Given the description of an element on the screen output the (x, y) to click on. 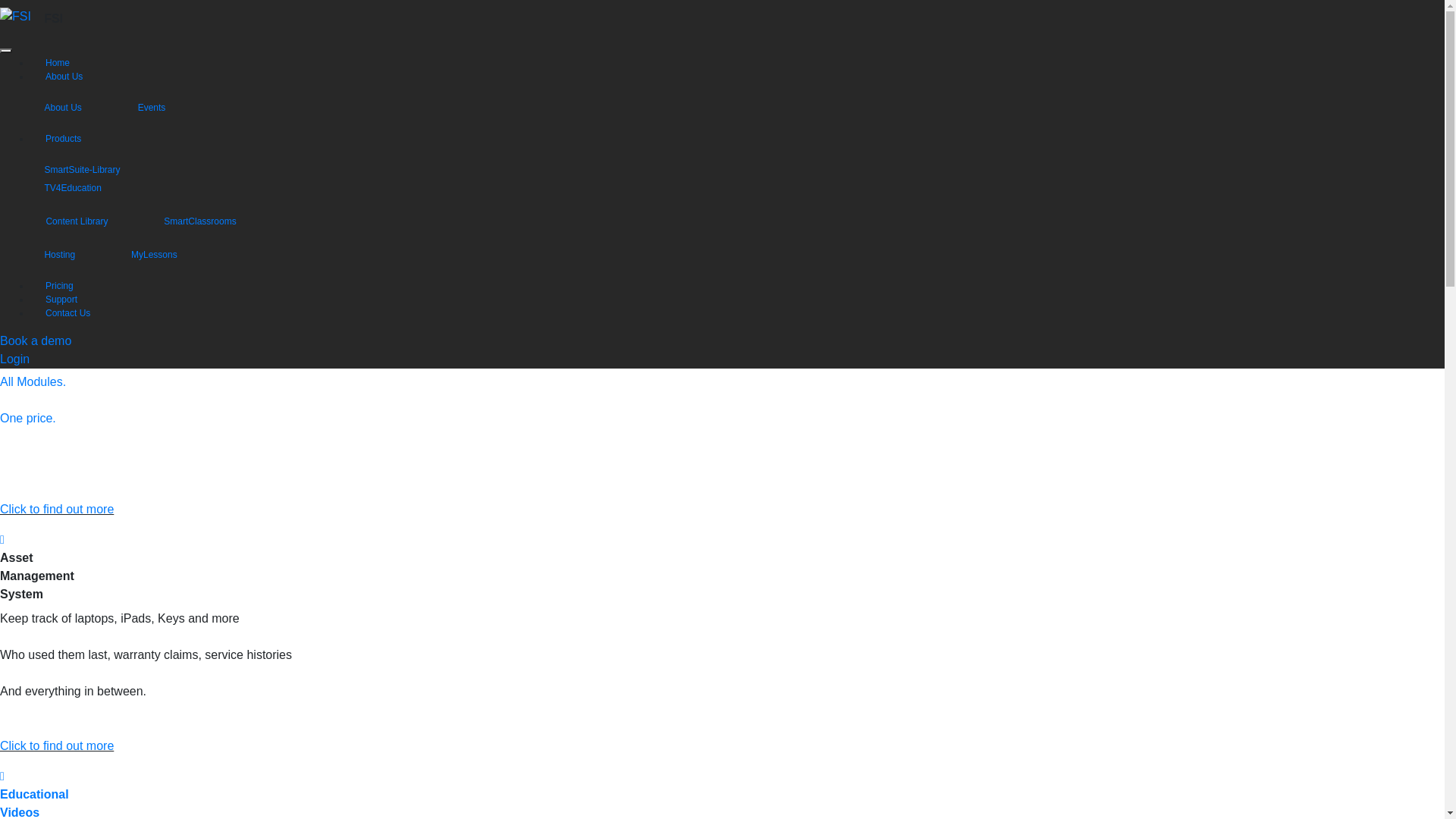
FSI Element type: hover (15, 16)
All Modules. Element type: text (32, 381)
One price. Element type: text (28, 417)
Educational Element type: text (34, 793)
SmartSuite-Library Element type: text (96, 169)
Content Library Element type: text (90, 220)
Pricing Element type: text (59, 285)
Management Element type: text (37, 302)
Library Element type: text (20, 284)
Products Element type: text (63, 138)
About Us Element type: text (76, 107)
Comprehensive Library Management.  Element type: text (103, 344)
Events Element type: text (165, 107)
FSI Element type: text (52, 18)
About Us Element type: text (63, 76)
Home Element type: text (57, 62)
Book a demo Element type: text (35, 340)
Hosting Element type: text (73, 254)
SmartClassrooms Element type: text (214, 220)
MyLessons Element type: text (168, 254)
System Element type: text (21, 320)
Click to find out more Element type: text (56, 508)
Contact Us Element type: text (67, 312)
Support Element type: text (61, 299)
Click to find out more Element type: text (56, 745)
TV4Education Element type: text (86, 187)
Login Element type: text (14, 358)
